Given the description of an element on the screen output the (x, y) to click on. 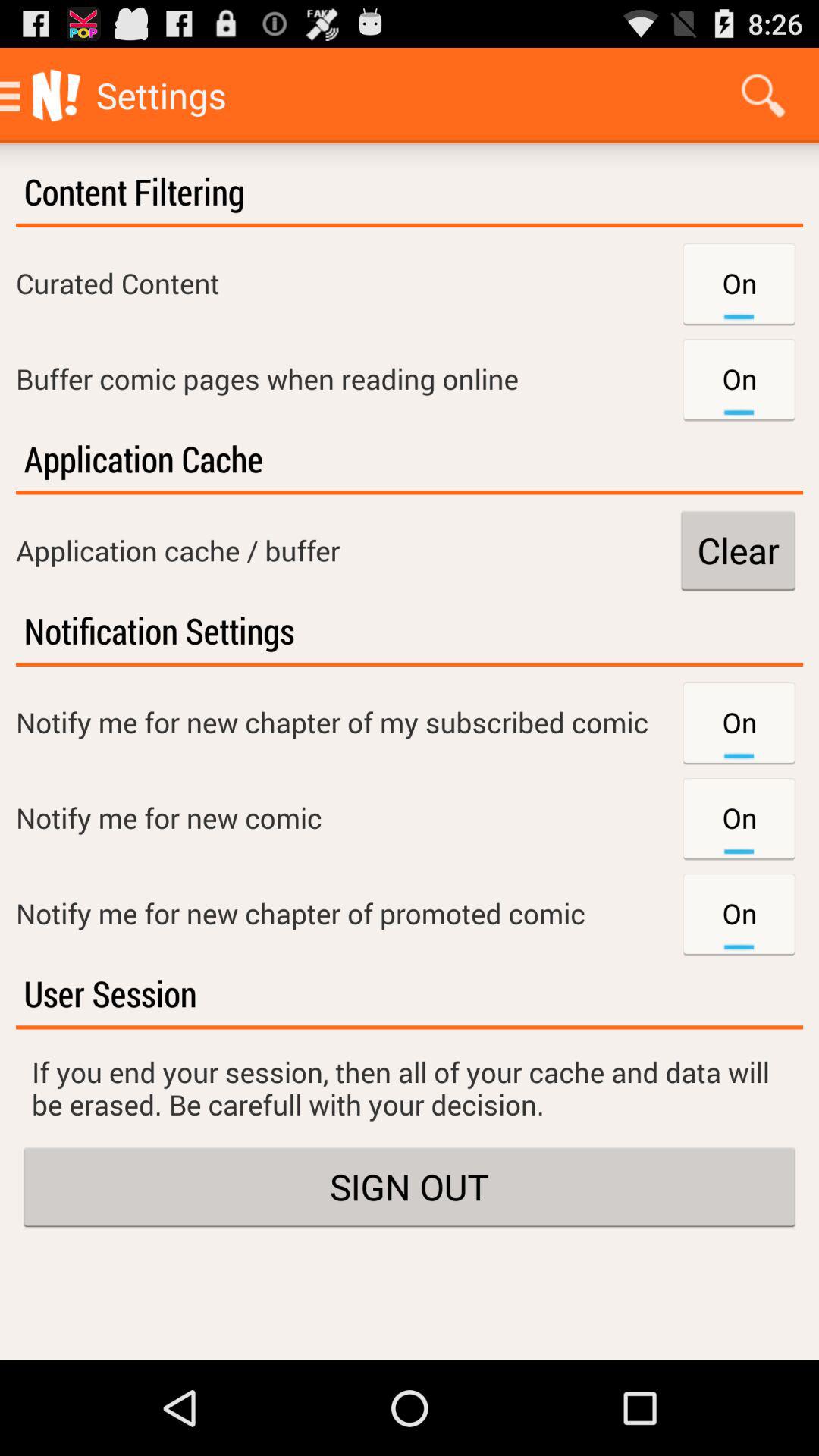
choose sign out icon (409, 1186)
